Given the description of an element on the screen output the (x, y) to click on. 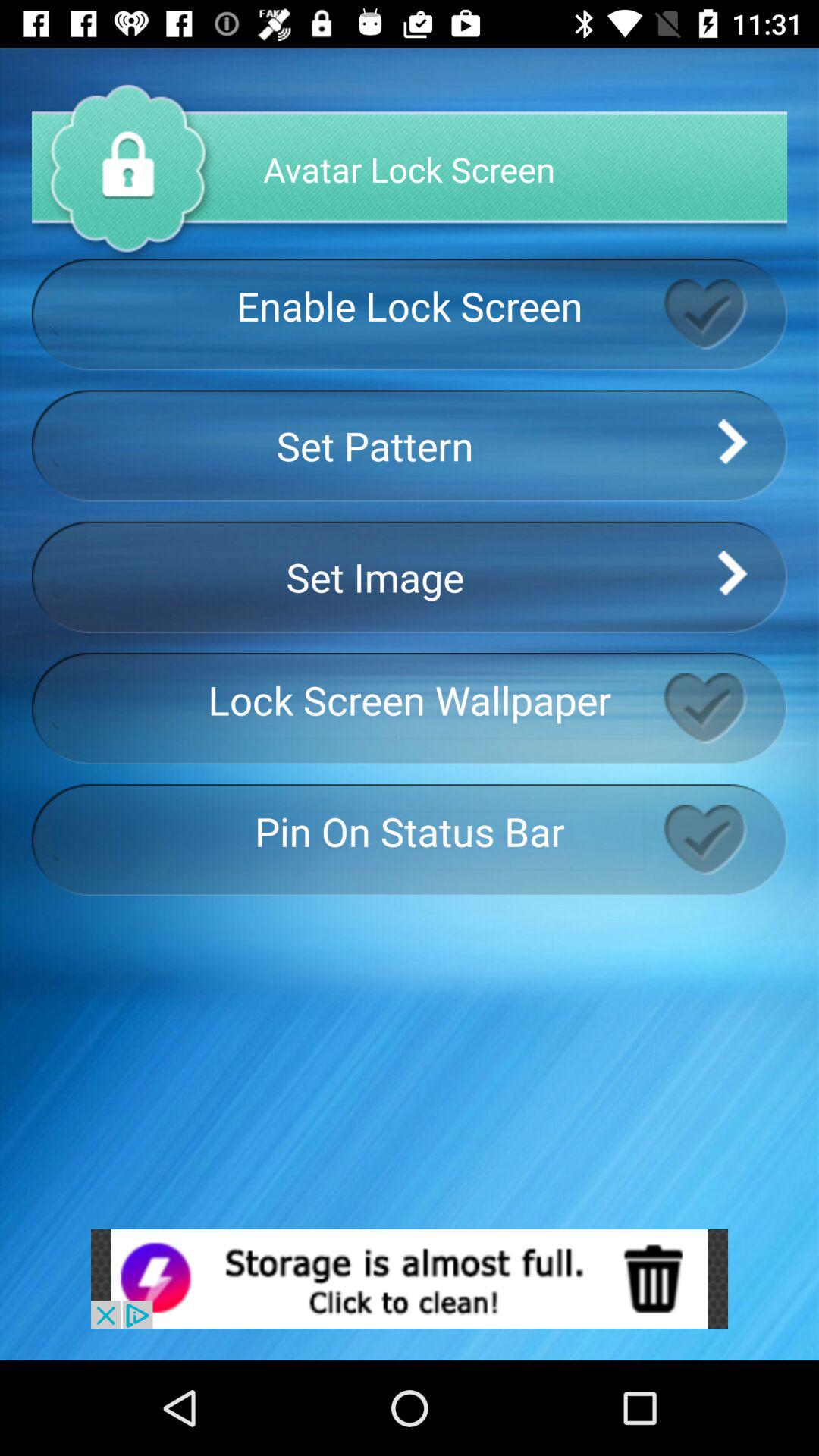
select this item (725, 839)
